Given the description of an element on the screen output the (x, y) to click on. 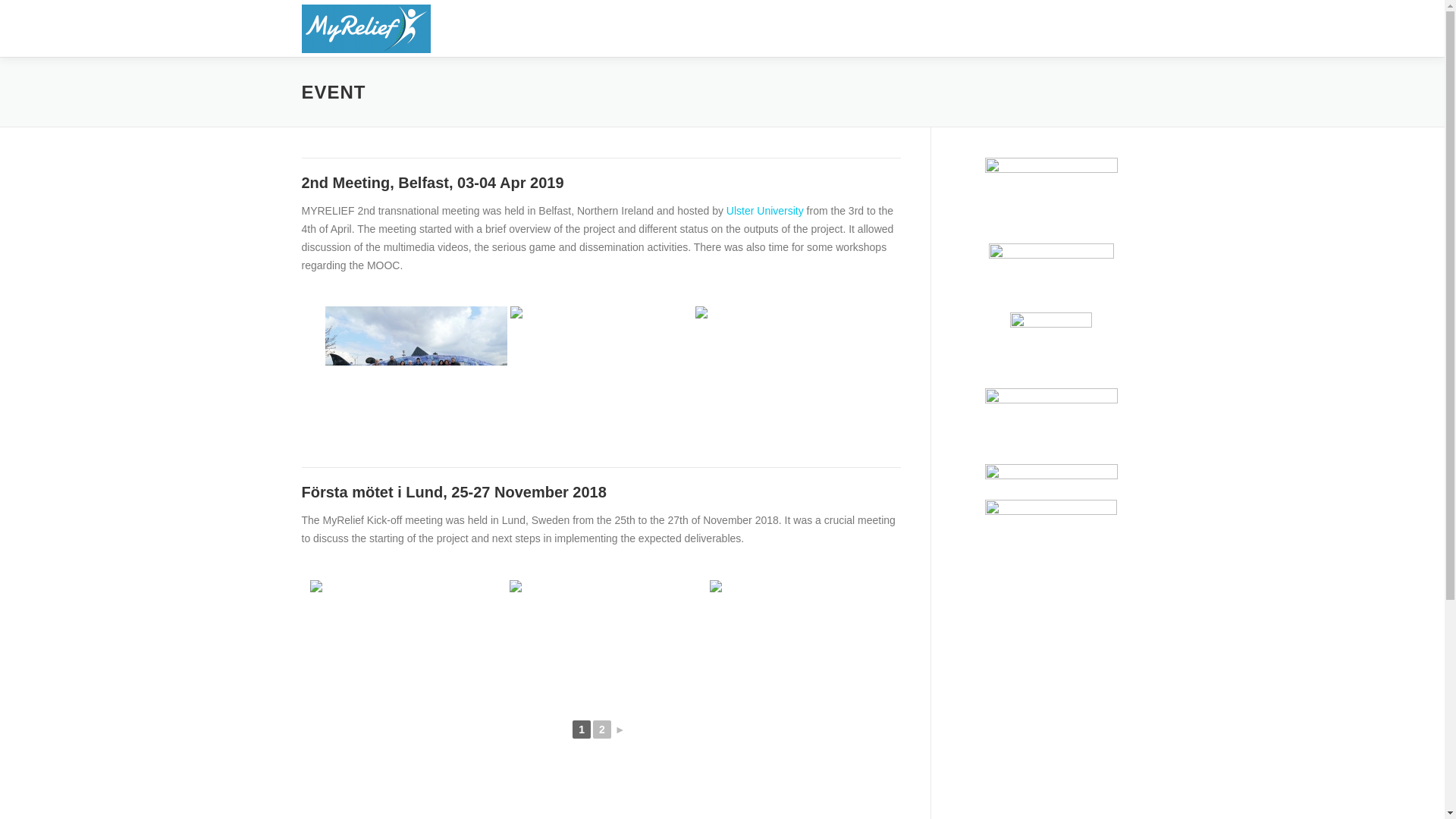
Ulster University (764, 210)
OM PROJEKTET (702, 28)
MEDIA (857, 28)
2 (601, 729)
UTFALL (792, 28)
KONTAKTER (1052, 28)
